Given the description of an element on the screen output the (x, y) to click on. 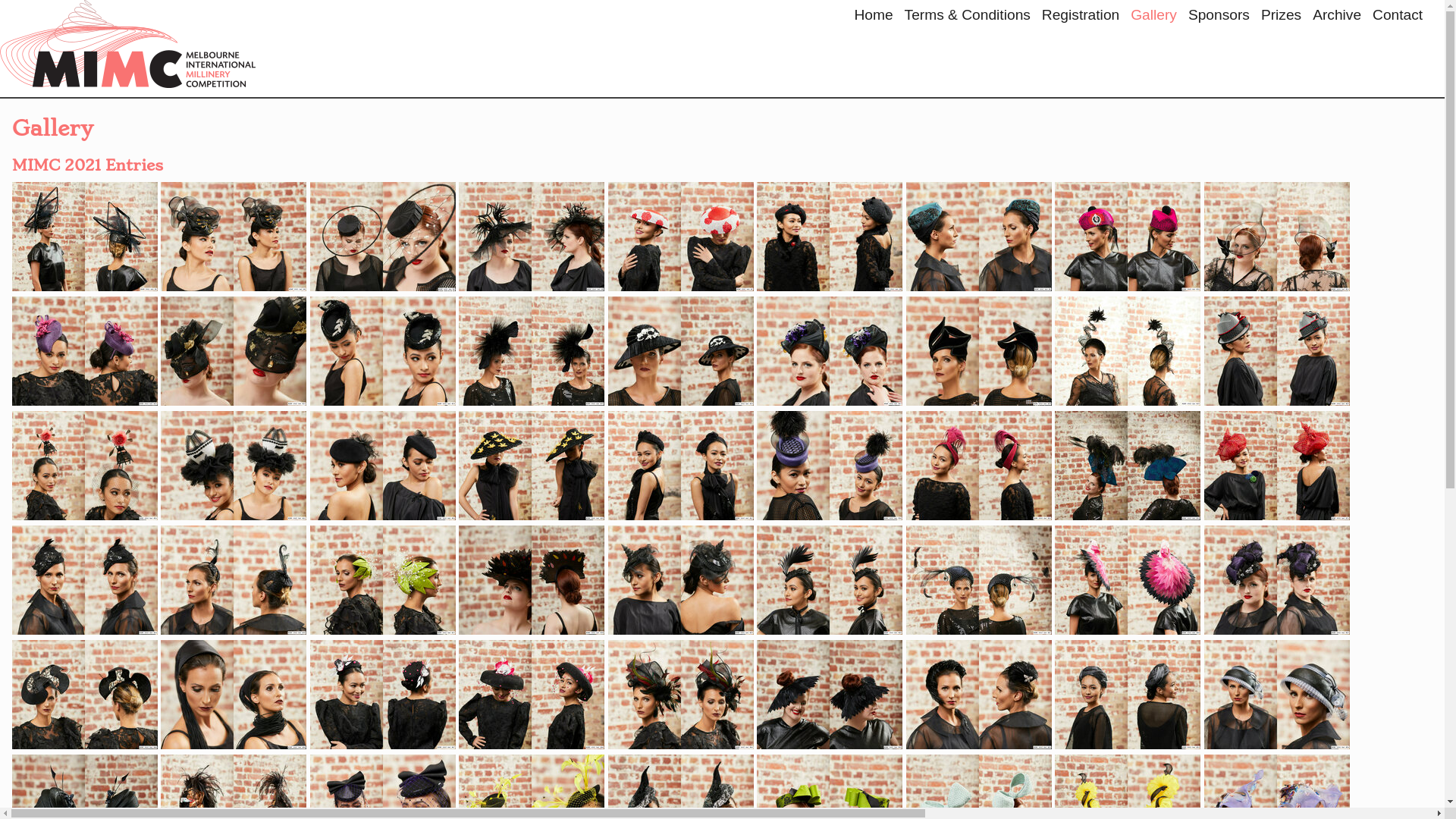
Home Element type: text (873, 17)
Sponsors Element type: text (1218, 17)
Archive Element type: text (1336, 17)
Prizes Element type: text (1281, 17)
Registration Element type: text (1080, 17)
Terms & Conditions Element type: text (967, 17)
Contact Element type: text (1397, 17)
Gallery Element type: text (1152, 17)
